Given the description of an element on the screen output the (x, y) to click on. 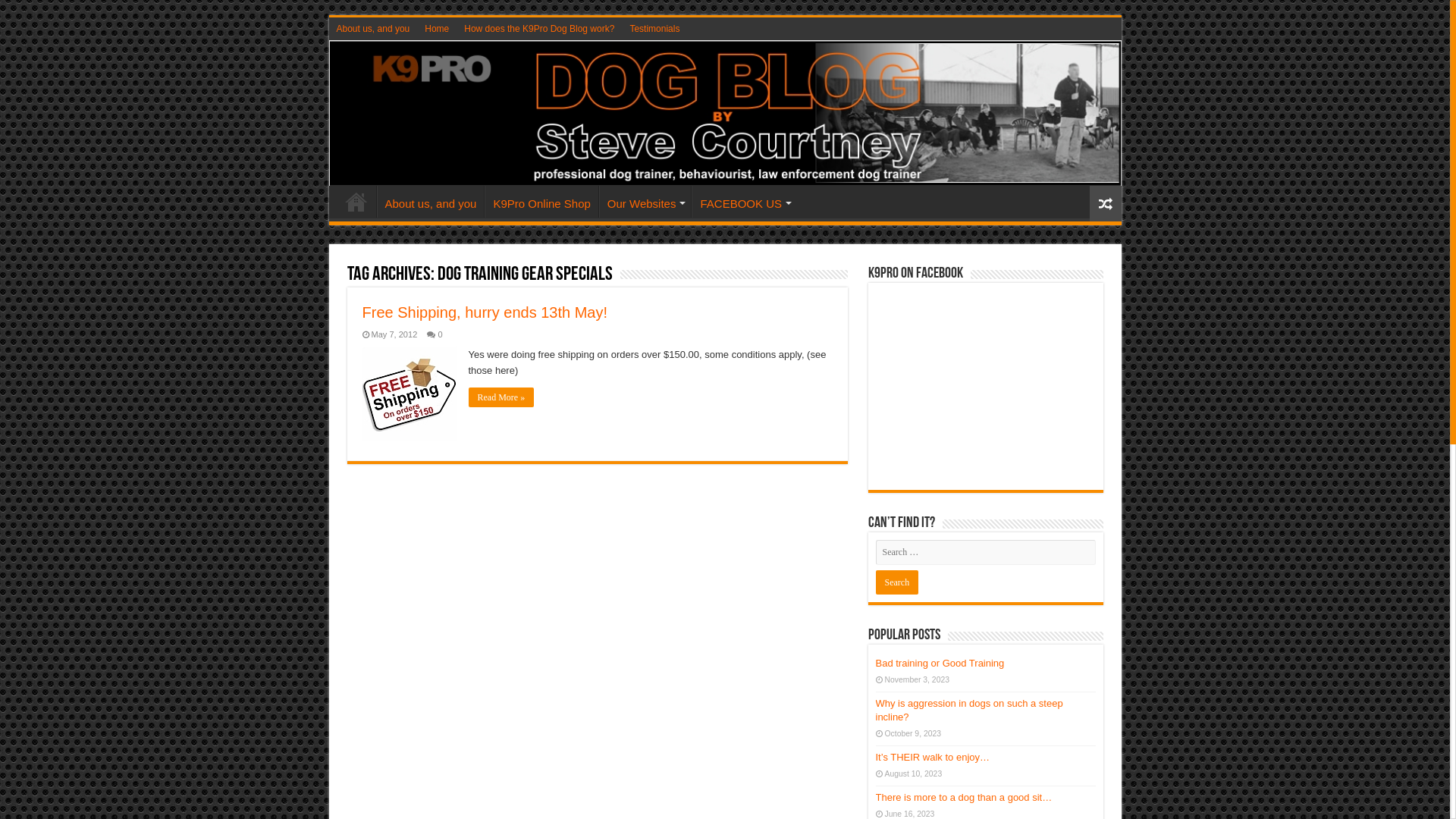
Why is aggression in dogs on such a steep incline? Element type: text (968, 709)
K9Pro Online Shop Element type: text (540, 201)
Free Shipping, hurry ends 13th May! Element type: text (485, 312)
Home Element type: text (356, 201)
FACEBOOK US Element type: text (744, 201)
Blog by K9 Pro and Steve Courtney Dog Training Element type: hover (725, 112)
0 Element type: text (439, 333)
Search Element type: text (896, 582)
How does the K9Pro Dog Blog work? Element type: text (538, 28)
Bad training or Good Training Element type: text (939, 662)
About us, and you Element type: text (373, 28)
Testimonials Element type: text (654, 28)
Our Websites Element type: text (645, 201)
Home Element type: text (436, 28)
About us, and you Element type: text (429, 201)
